Given the description of an element on the screen output the (x, y) to click on. 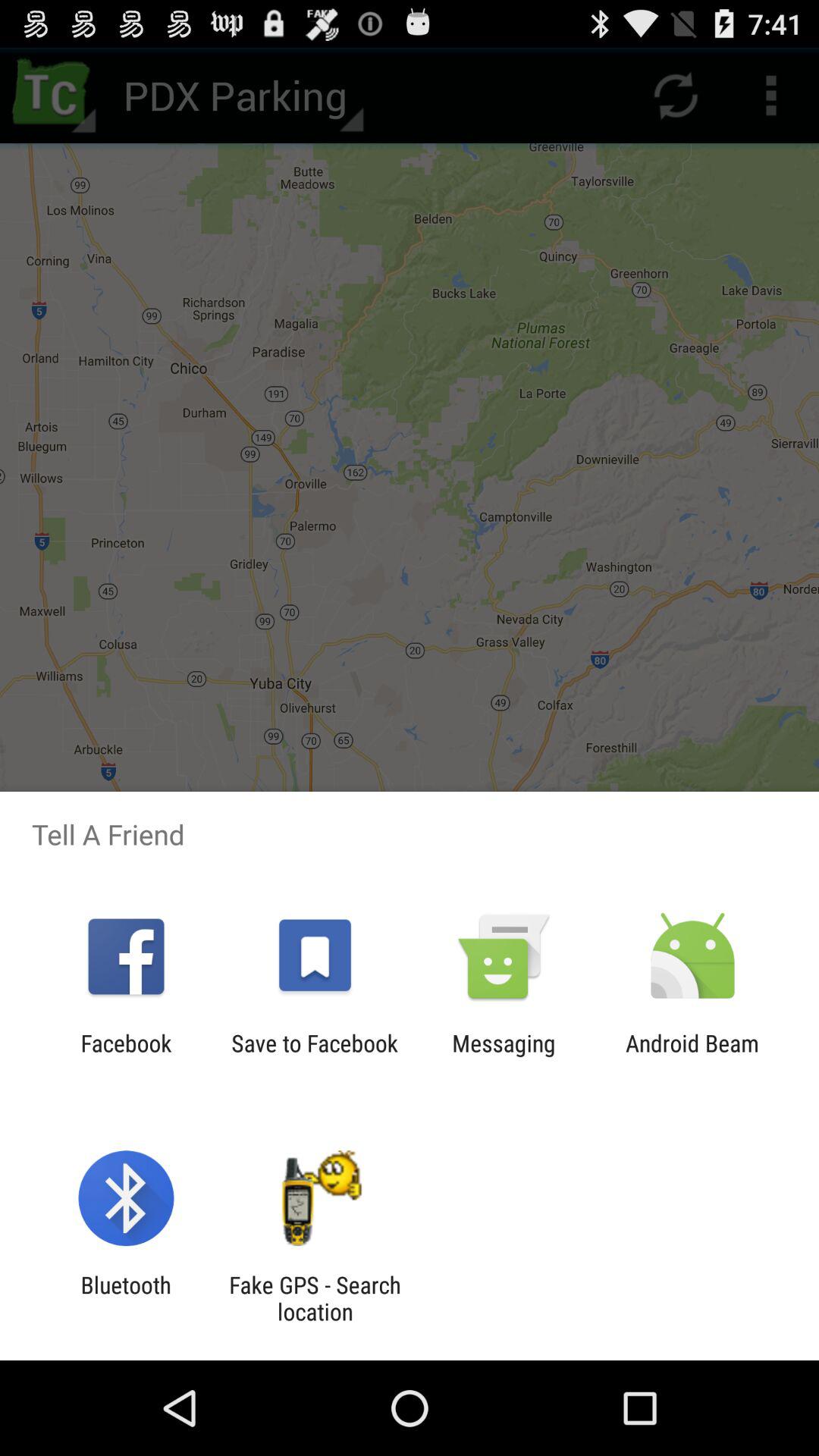
tap app next to the messaging (314, 1056)
